Given the description of an element on the screen output the (x, y) to click on. 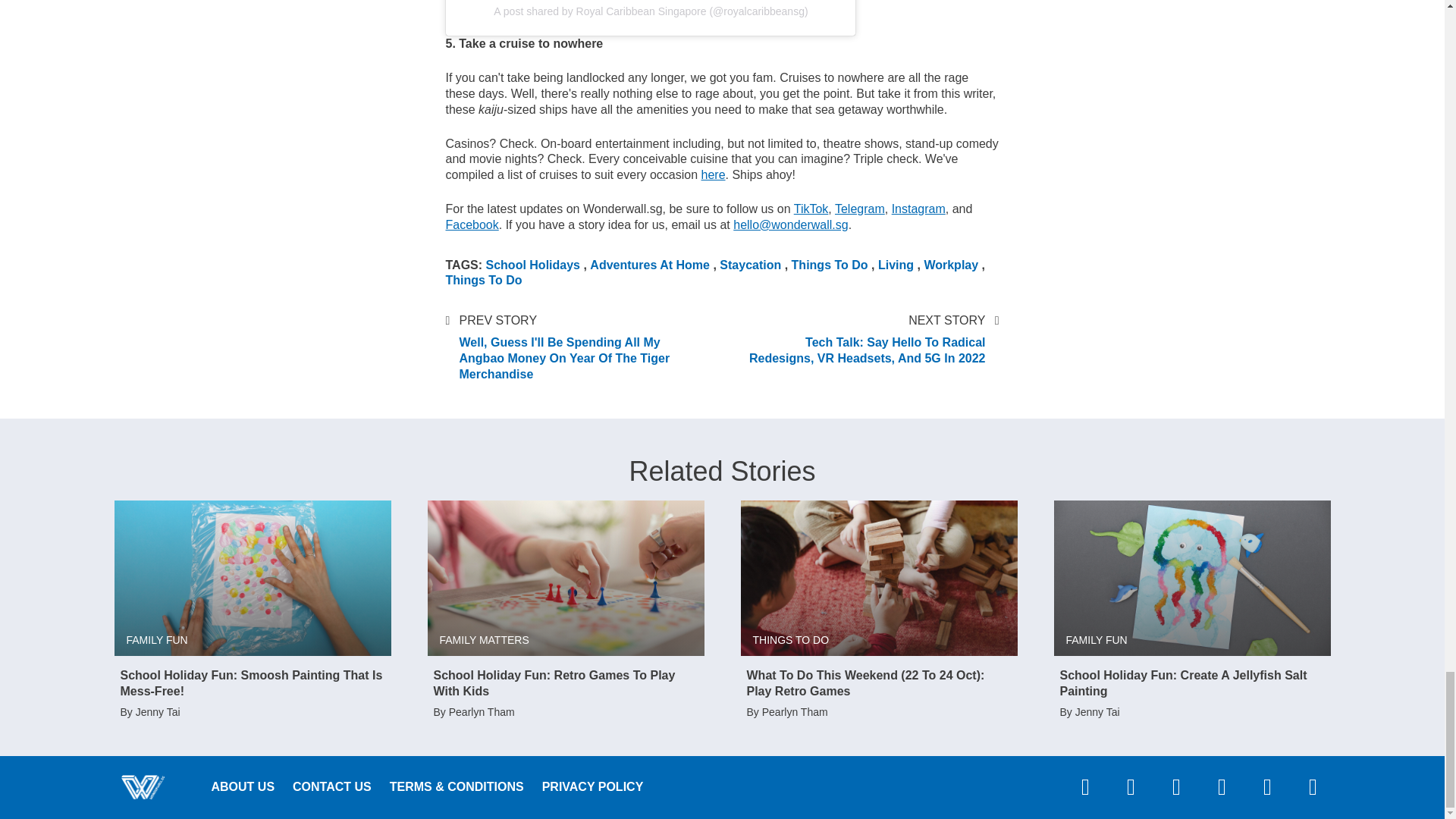
School Holiday Fun: Smoosh Painting That Is Mess-Free! (251, 578)
